Given the description of an element on the screen output the (x, y) to click on. 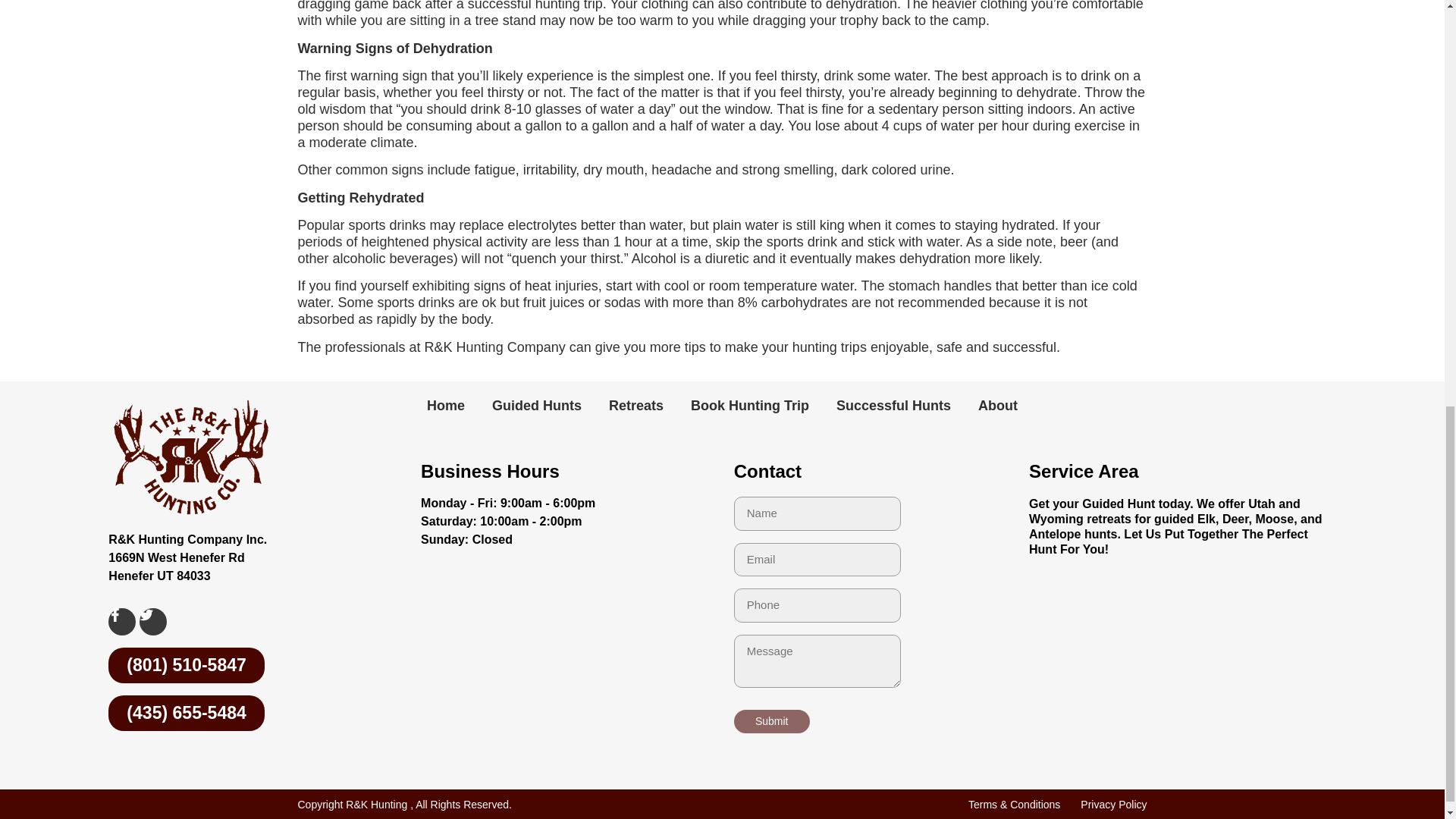
Submit (771, 721)
